Given the description of an element on the screen output the (x, y) to click on. 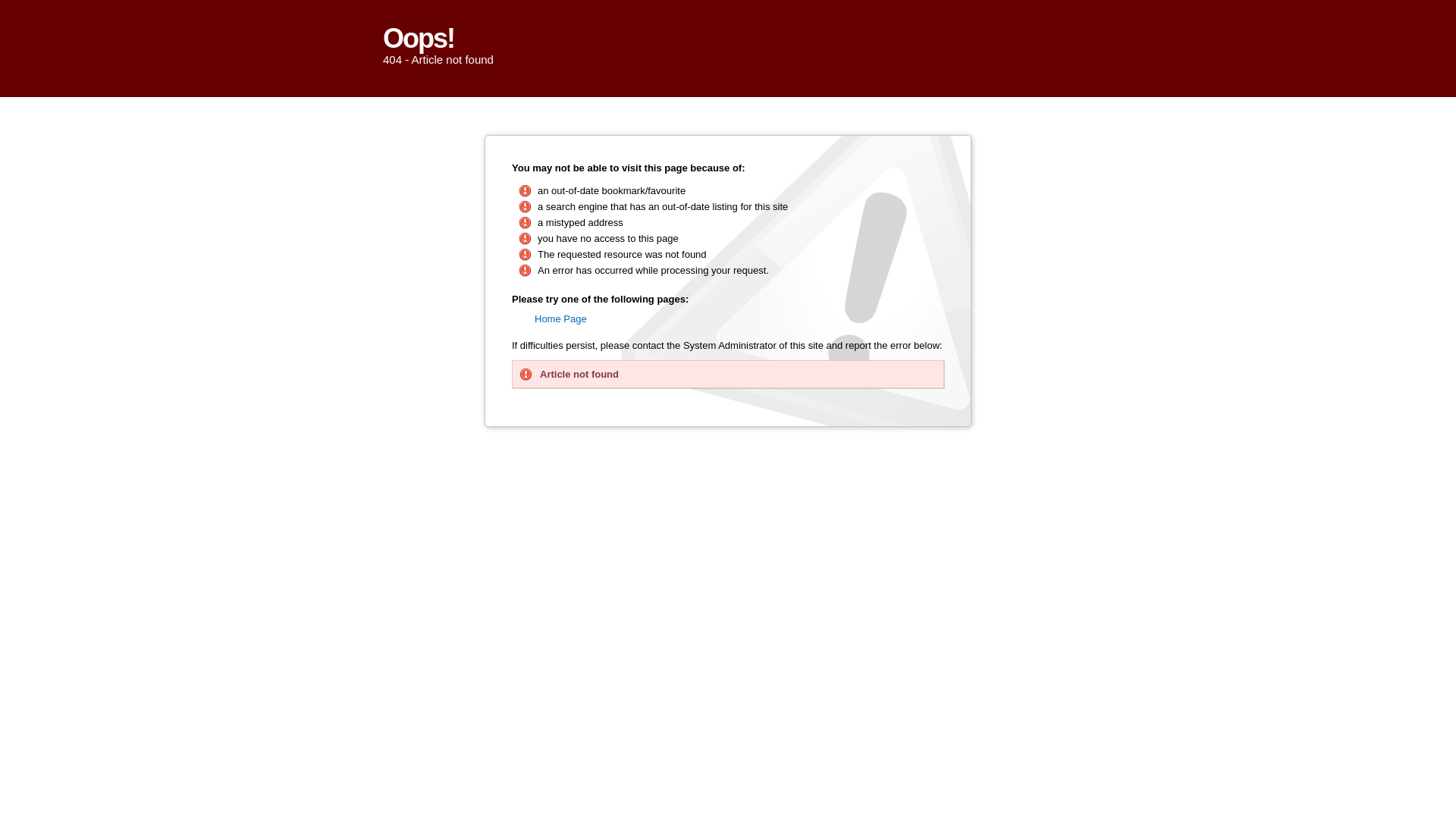
Home Page Element type: text (560, 318)
